Given the description of an element on the screen output the (x, y) to click on. 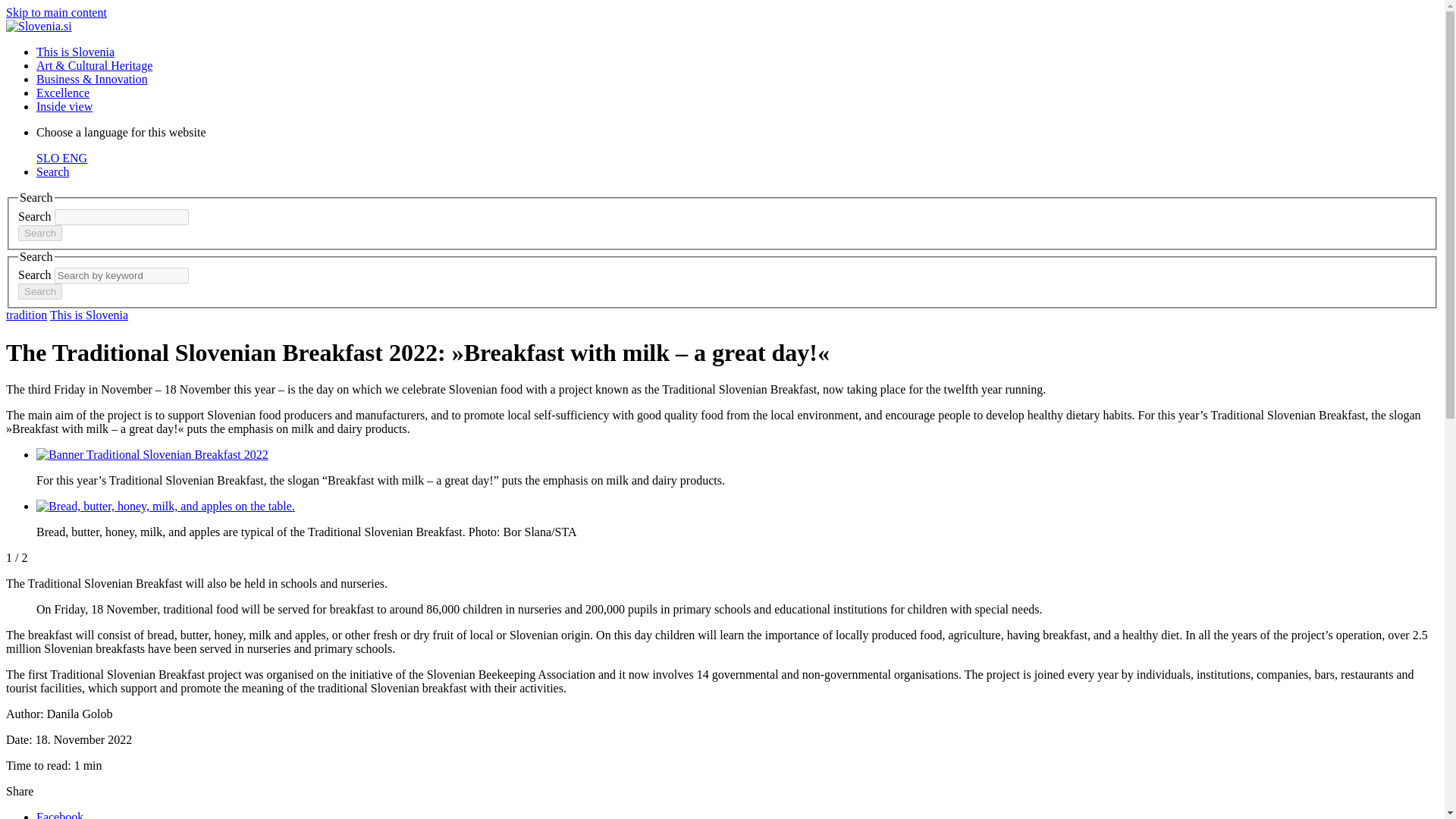
This is Slovenia (75, 51)
Search (39, 232)
This is Slovenia (88, 314)
Skip to main content (55, 11)
SLO (49, 157)
Search (39, 291)
Search (52, 171)
Excellence (62, 92)
Facebook (59, 814)
ENG (74, 157)
